Given the description of an element on the screen output the (x, y) to click on. 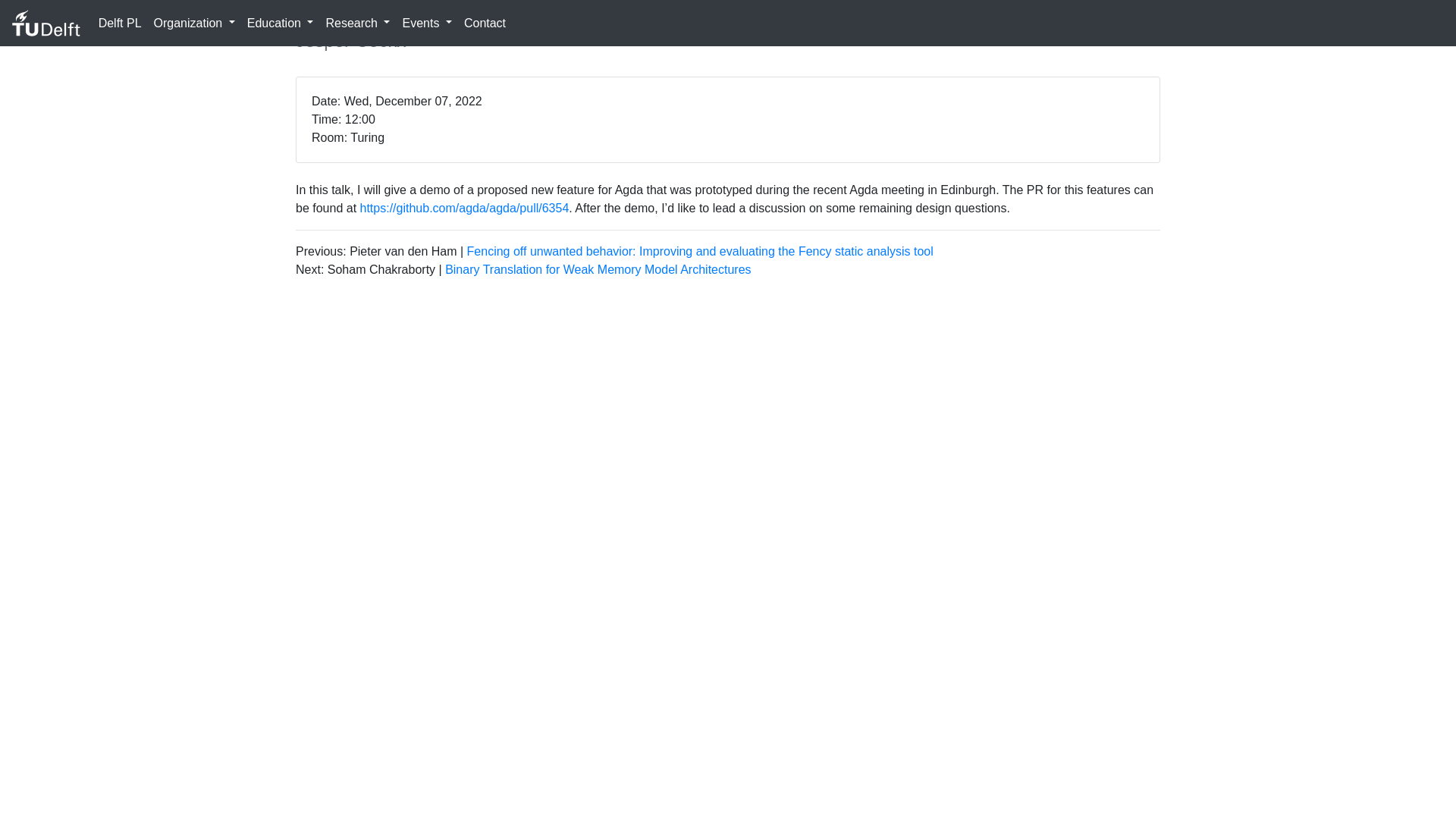
Organization (194, 22)
Research (357, 22)
Delft PL (120, 22)
Binary Translation for Weak Memory Model Architectures (598, 269)
Contact (485, 22)
Education (280, 22)
Events (426, 22)
